Given the description of an element on the screen output the (x, y) to click on. 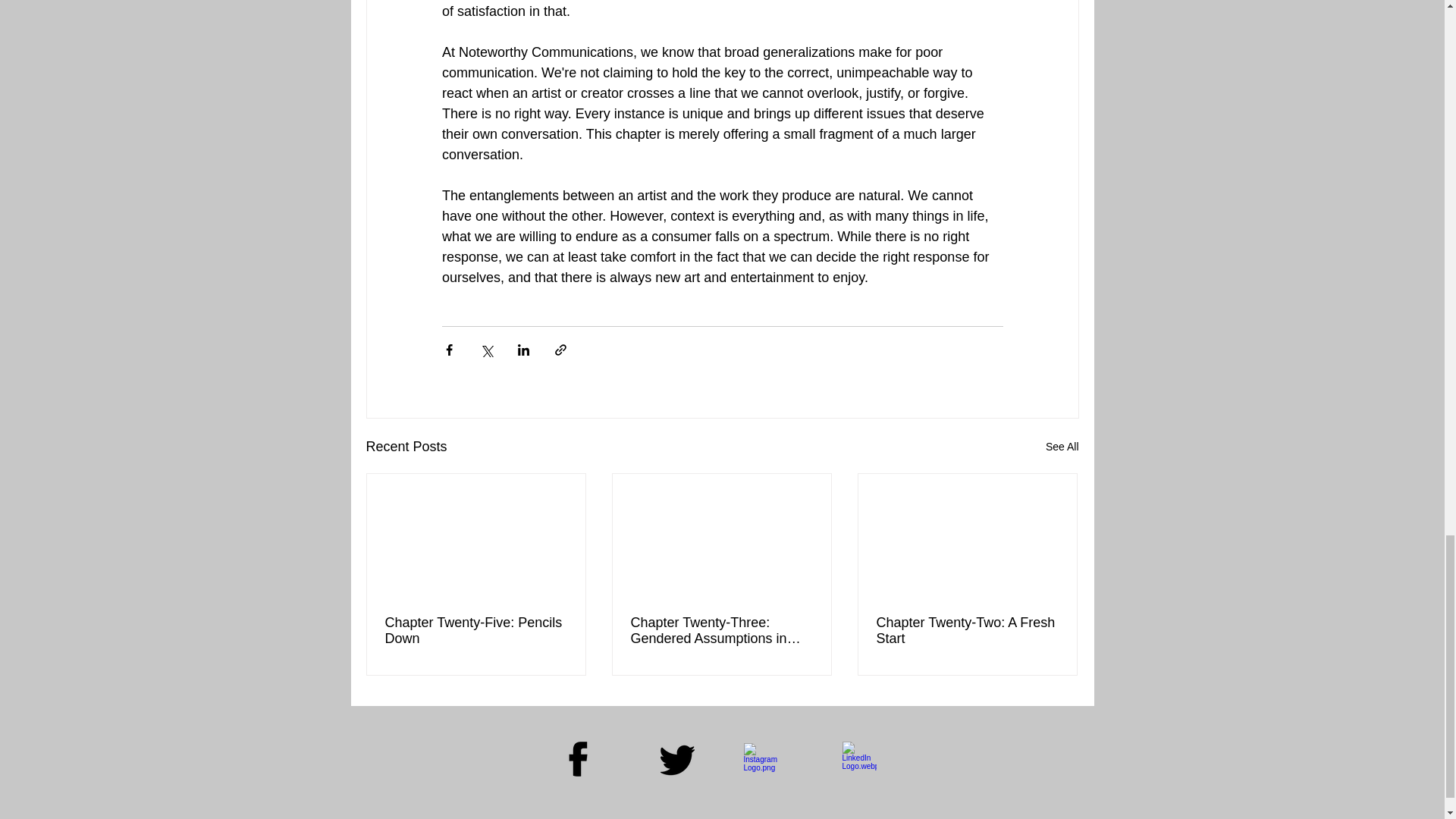
See All (1061, 446)
Chapter Twenty-Three: Gendered Assumptions in Language (721, 631)
Chapter Twenty-Five: Pencils Down (476, 631)
Chapter Twenty-Two: A Fresh Start (967, 631)
